Given the description of an element on the screen output the (x, y) to click on. 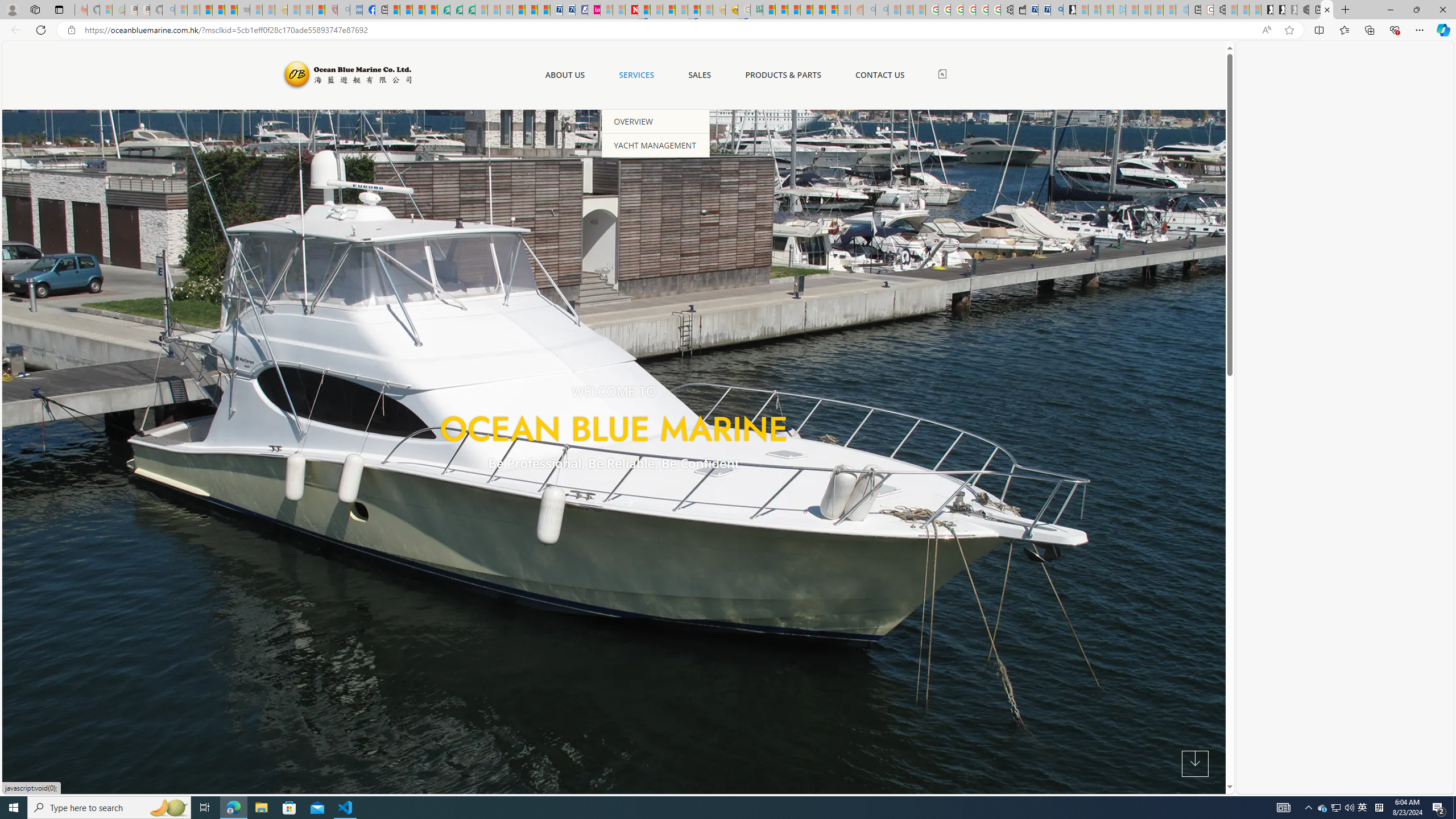
SERVICES (636, 75)
YACHT MANAGEMENT (656, 144)
ABOUT US (564, 75)
